Given the description of an element on the screen output the (x, y) to click on. 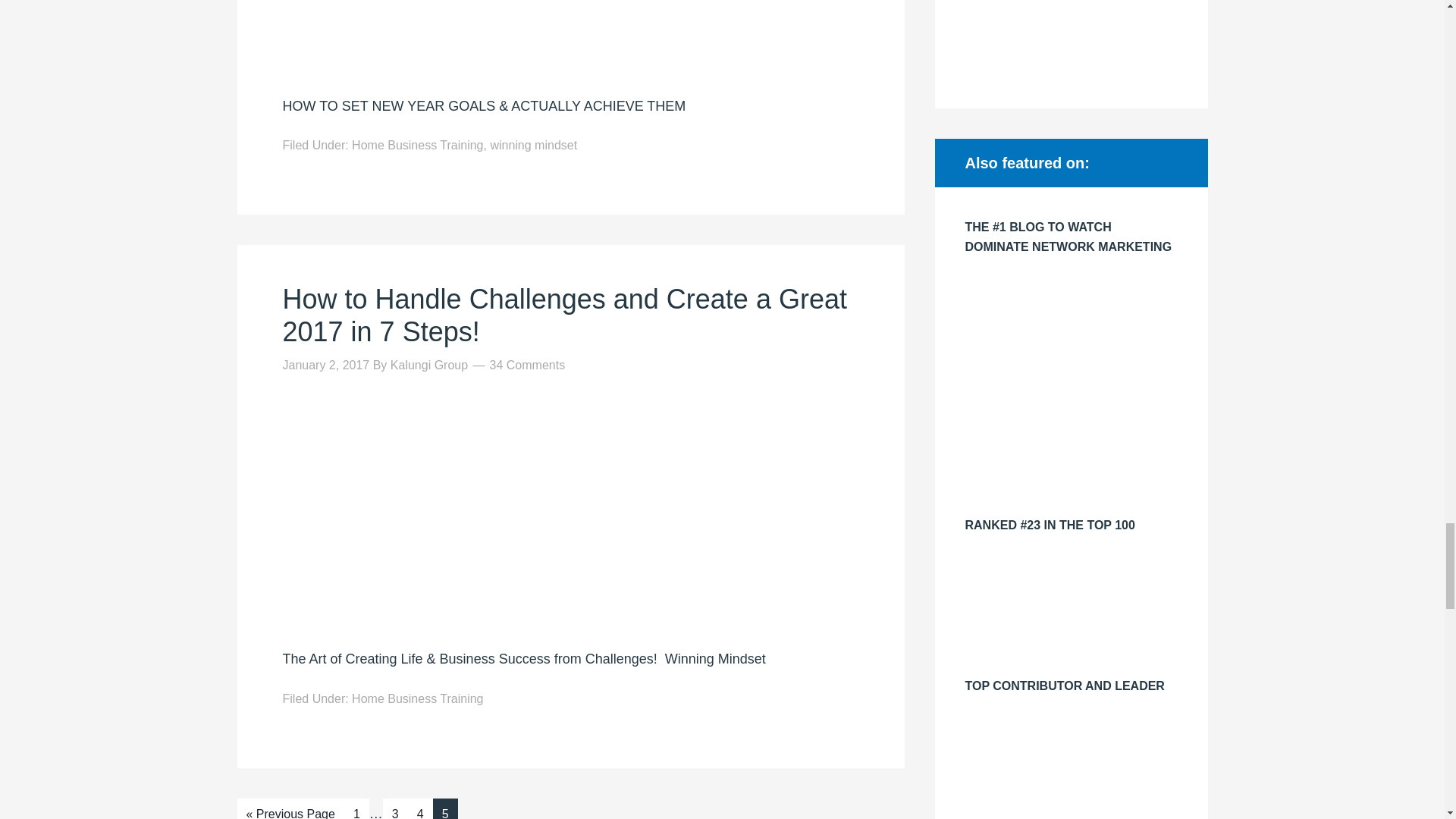
Network Marketing blogs (1069, 644)
